Given the description of an element on the screen output the (x, y) to click on. 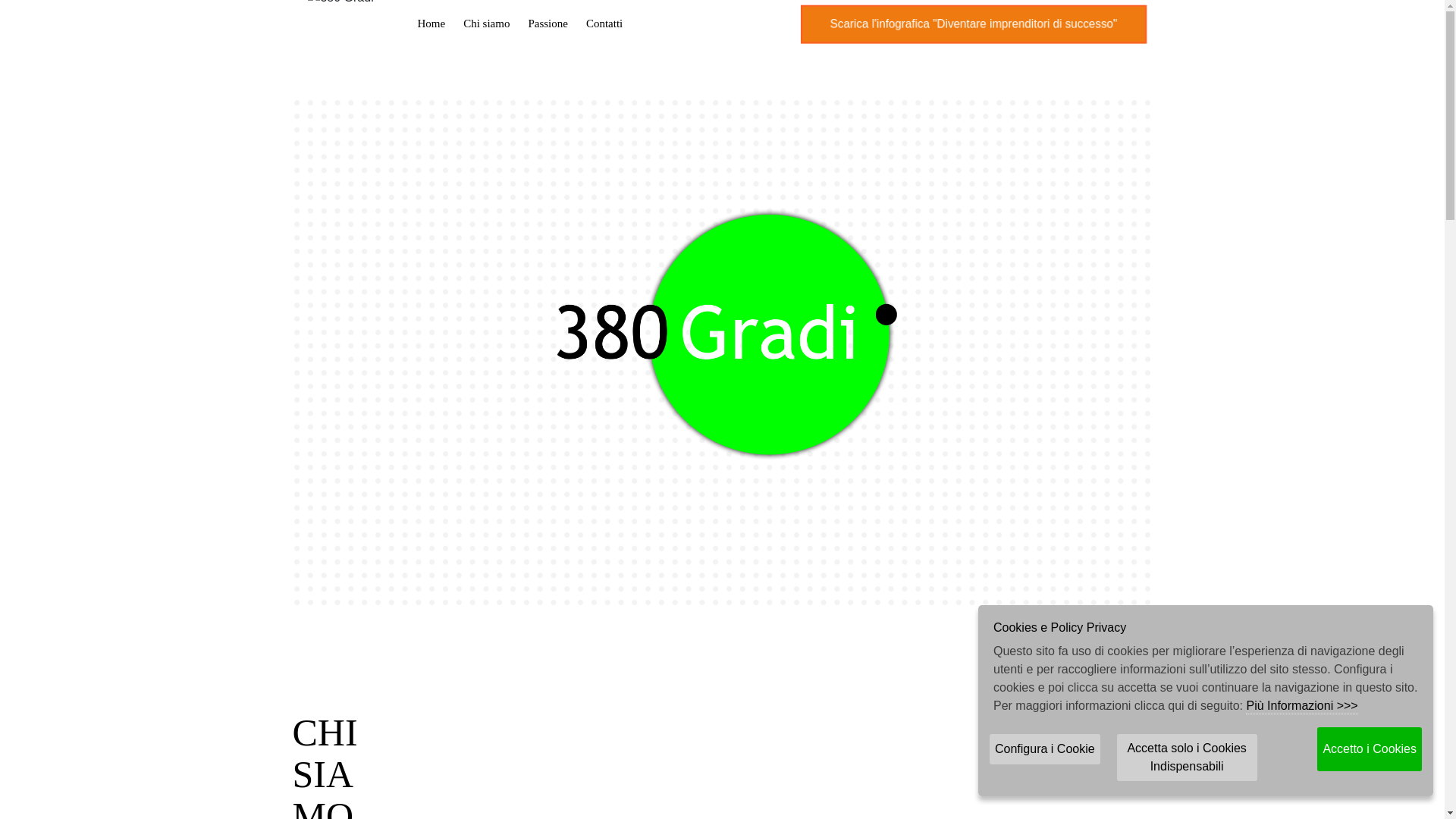
Chi siamo Element type: text (486, 23)
Contatti Element type: text (604, 23)
Accetto i Cookies Element type: text (1369, 749)
Configura i Cookie Element type: text (1044, 749)
Scarica l'infografica "Diventare imprenditori di successo" Element type: text (965, 23)
Accetta solo i Cookies Indispensabili Element type: text (1187, 757)
Logo www.380gradi.com Element type: hover (721, 337)
Passione Element type: text (547, 23)
Home Element type: text (430, 23)
